Given the description of an element on the screen output the (x, y) to click on. 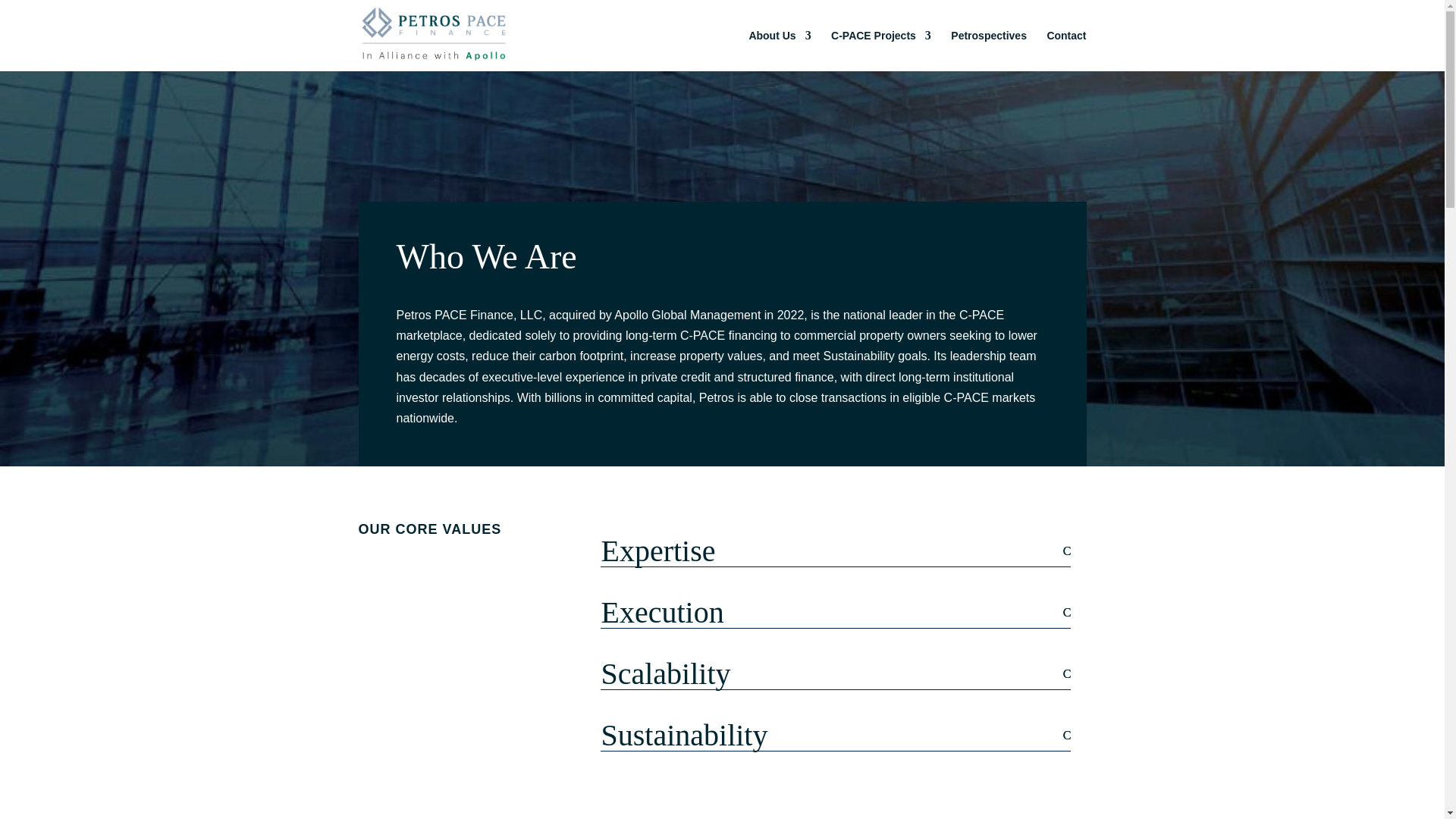
About Us (779, 50)
Petrospectives (988, 50)
Contact (1066, 50)
C-PACE Projects (881, 50)
